Given the description of an element on the screen output the (x, y) to click on. 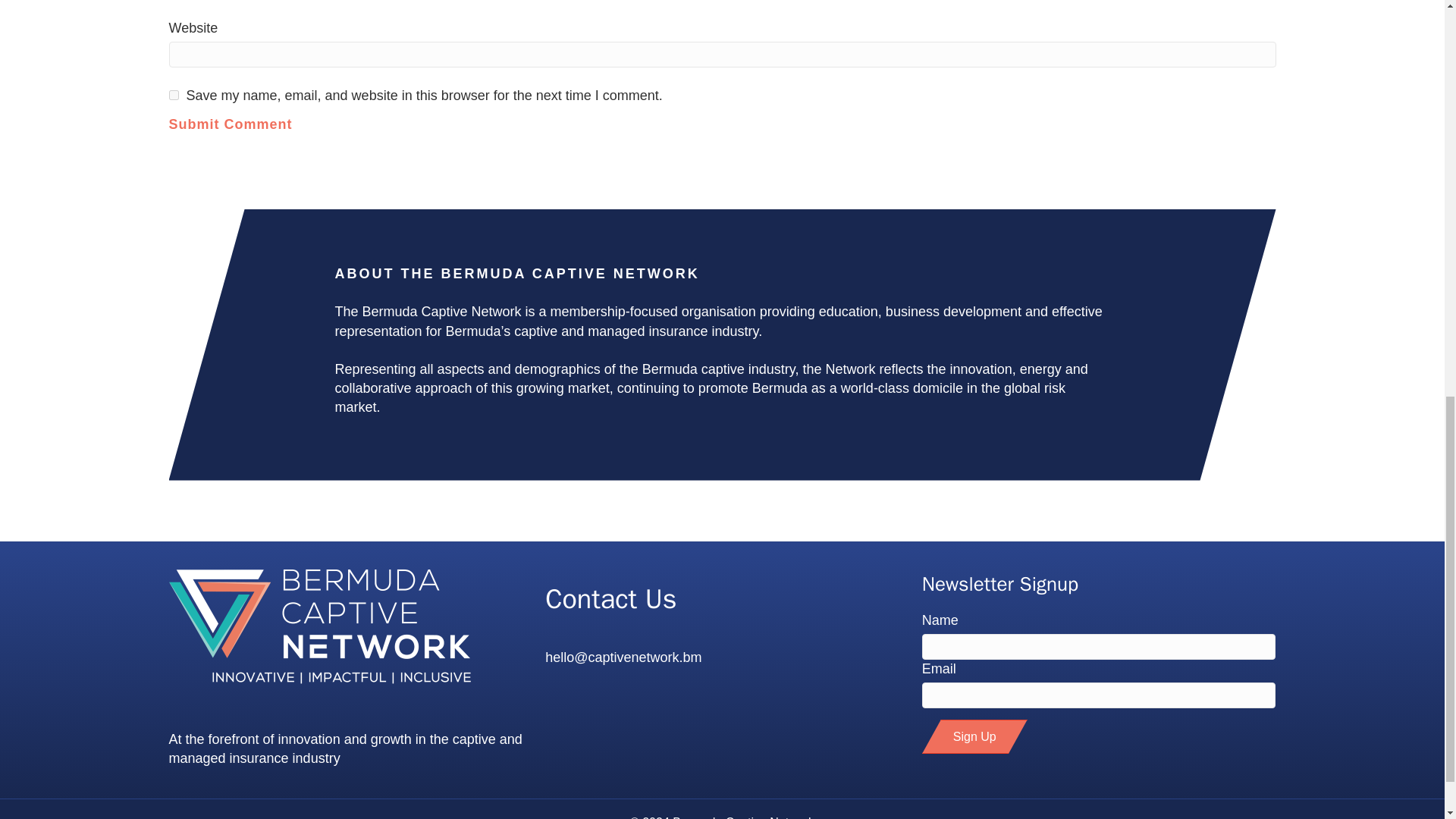
yes (172, 94)
Submit Comment (230, 144)
Sign Up (974, 736)
Submit Comment (230, 144)
